Given the description of an element on the screen output the (x, y) to click on. 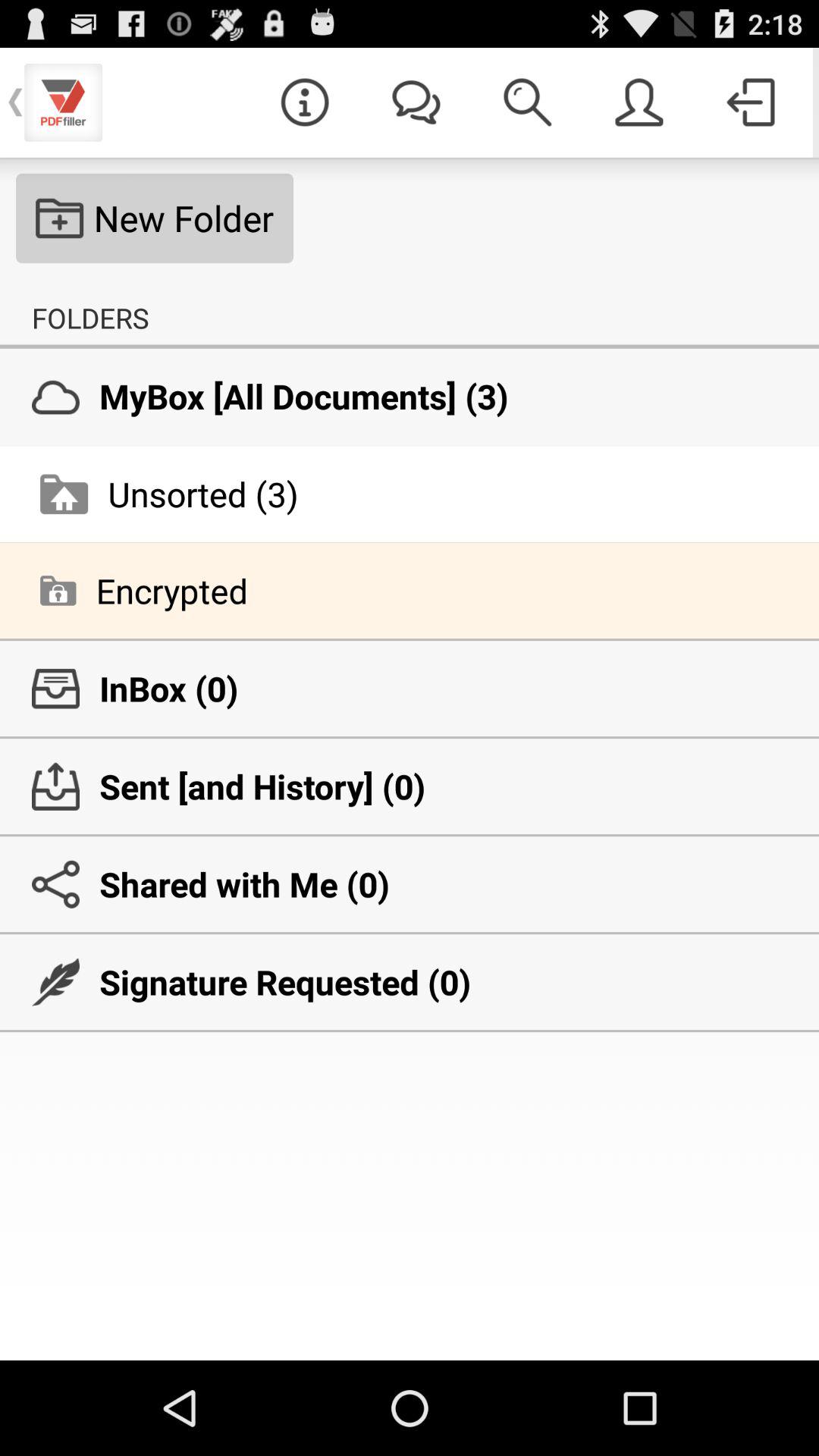
scroll to folders (90, 317)
